Given the description of an element on the screen output the (x, y) to click on. 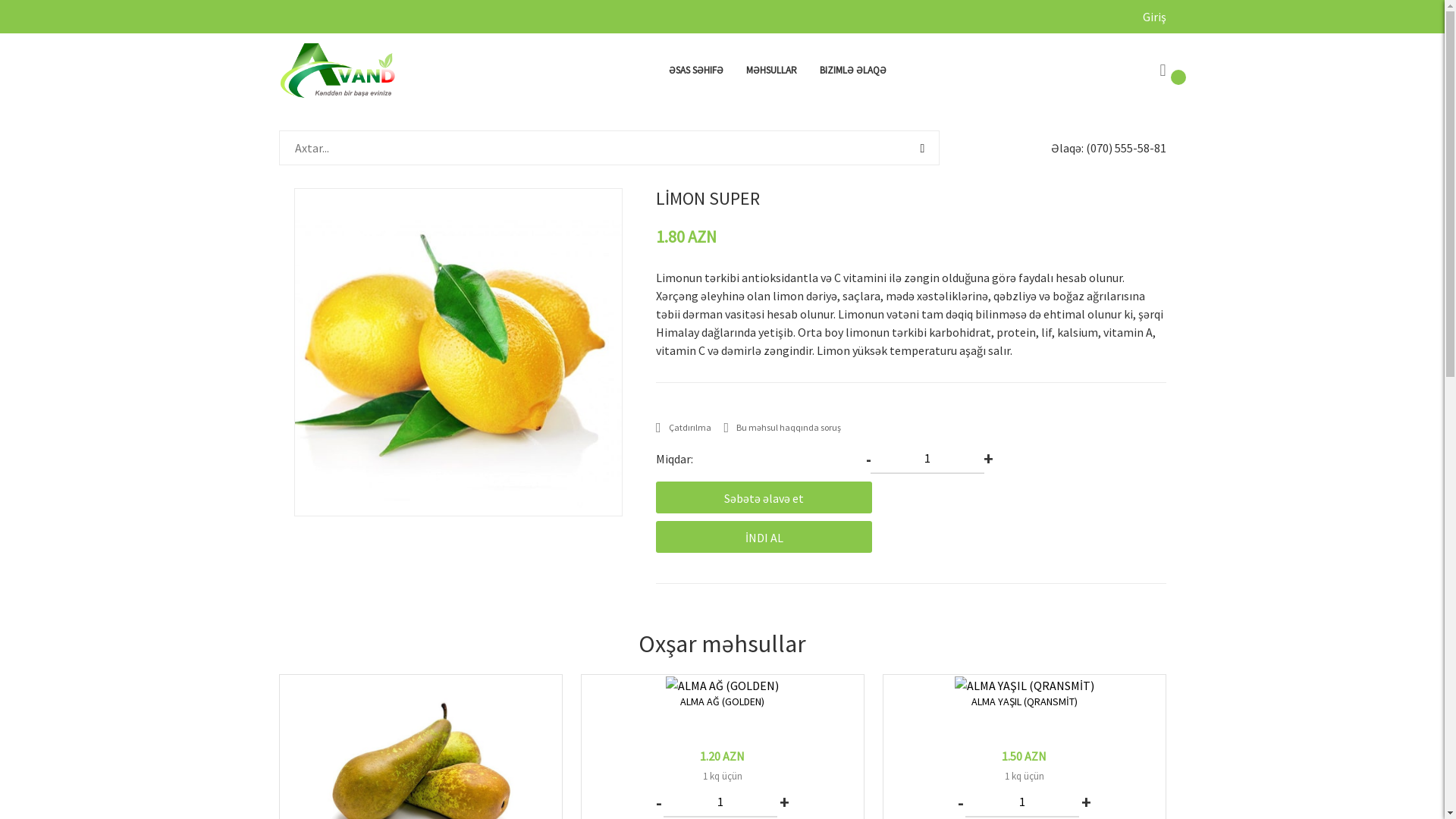
+ Element type: text (987, 459)
+ Element type: text (783, 803)
+ Element type: text (1085, 803)
- Element type: text (658, 803)
- Element type: text (960, 803)
- Element type: text (868, 459)
